Given the description of an element on the screen output the (x, y) to click on. 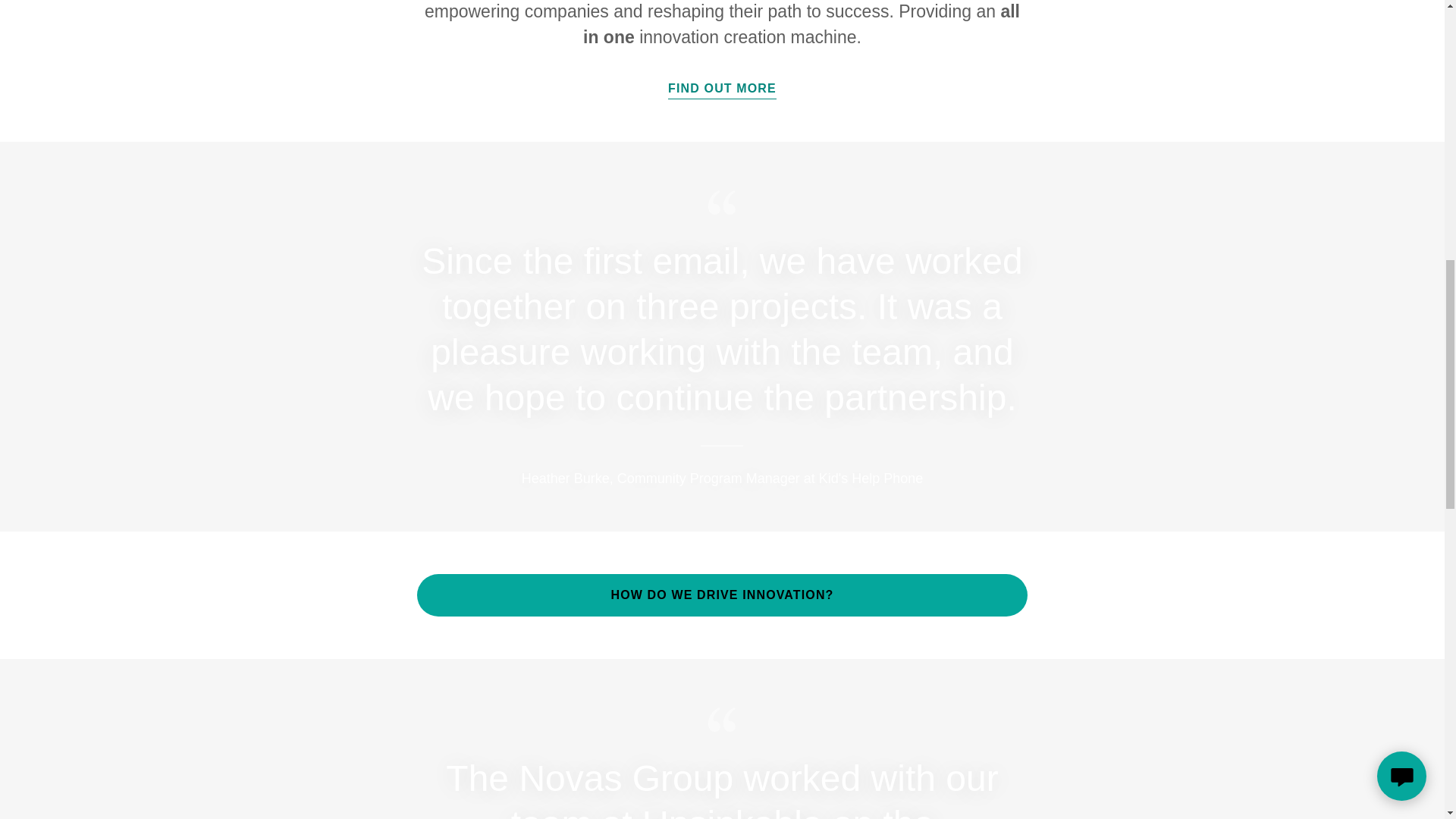
HOW DO WE DRIVE INNOVATION? (721, 594)
ACCEPT (1274, 324)
FIND OUT MORE (722, 82)
